Given the description of an element on the screen output the (x, y) to click on. 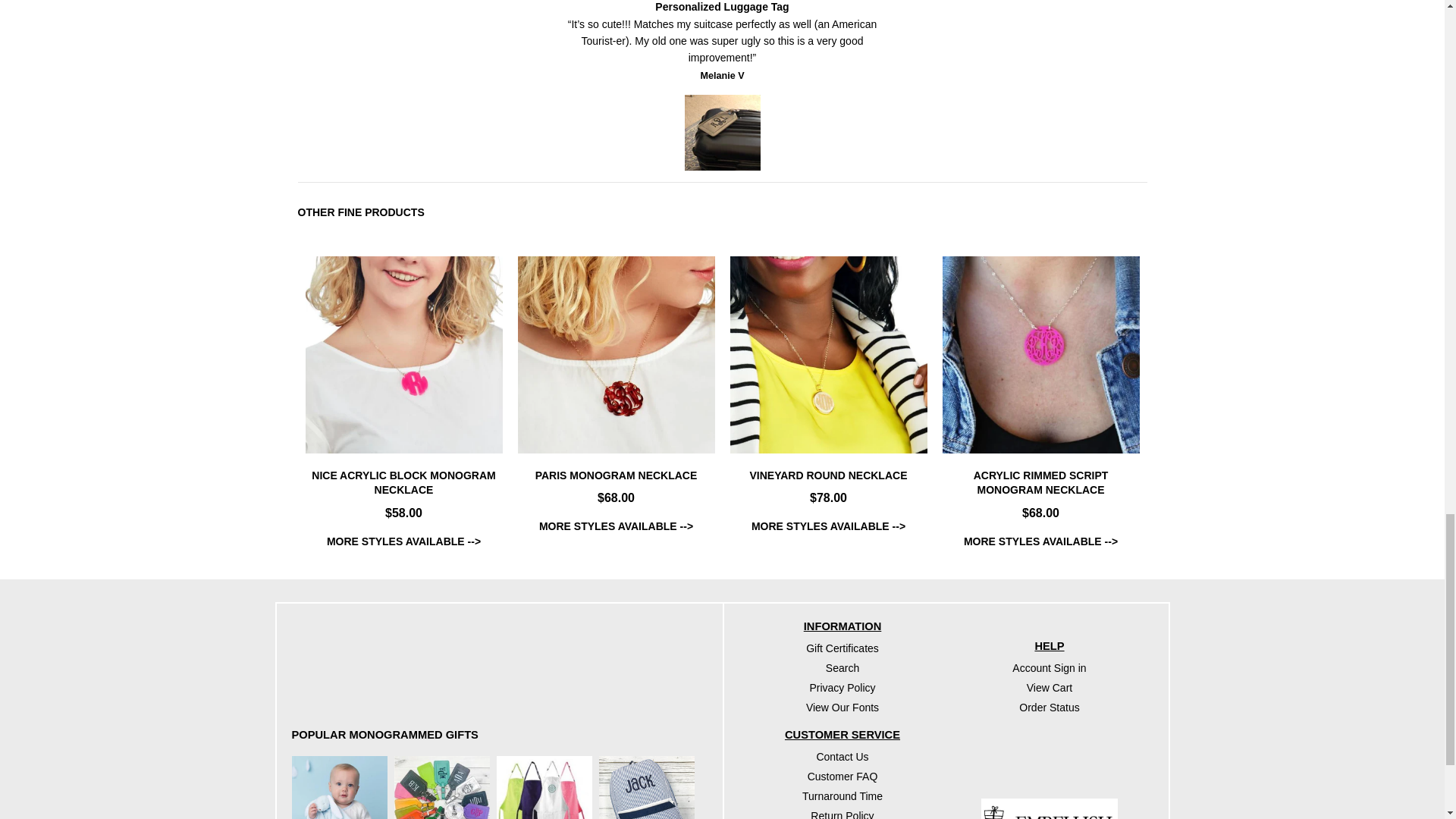
Rimmed Script Acrylic Necklace Hot Pink (1040, 354)
Paris Acrylic Monogram Necklace Lifestyle Tortoise (615, 354)
Vineyard Round Monogram Necklace Blonde Tortoise (827, 354)
Nice Acrylic Monogram Necklace Hot Pink Lifestyle (403, 354)
